Given the description of an element on the screen output the (x, y) to click on. 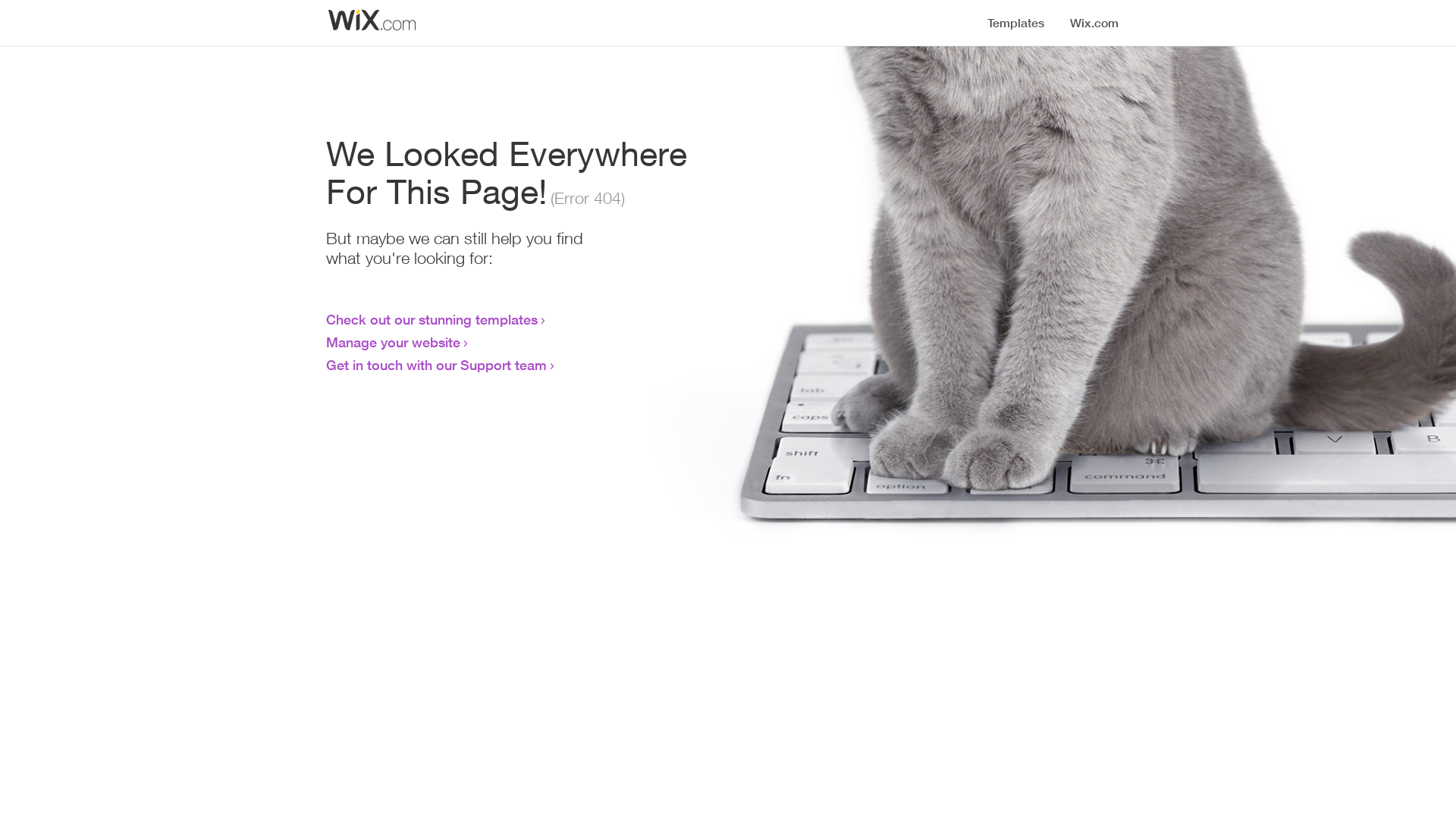
Get in touch with our Support team Element type: text (436, 364)
Manage your website Element type: text (393, 341)
Check out our stunning templates Element type: text (431, 318)
